Given the description of an element on the screen output the (x, y) to click on. 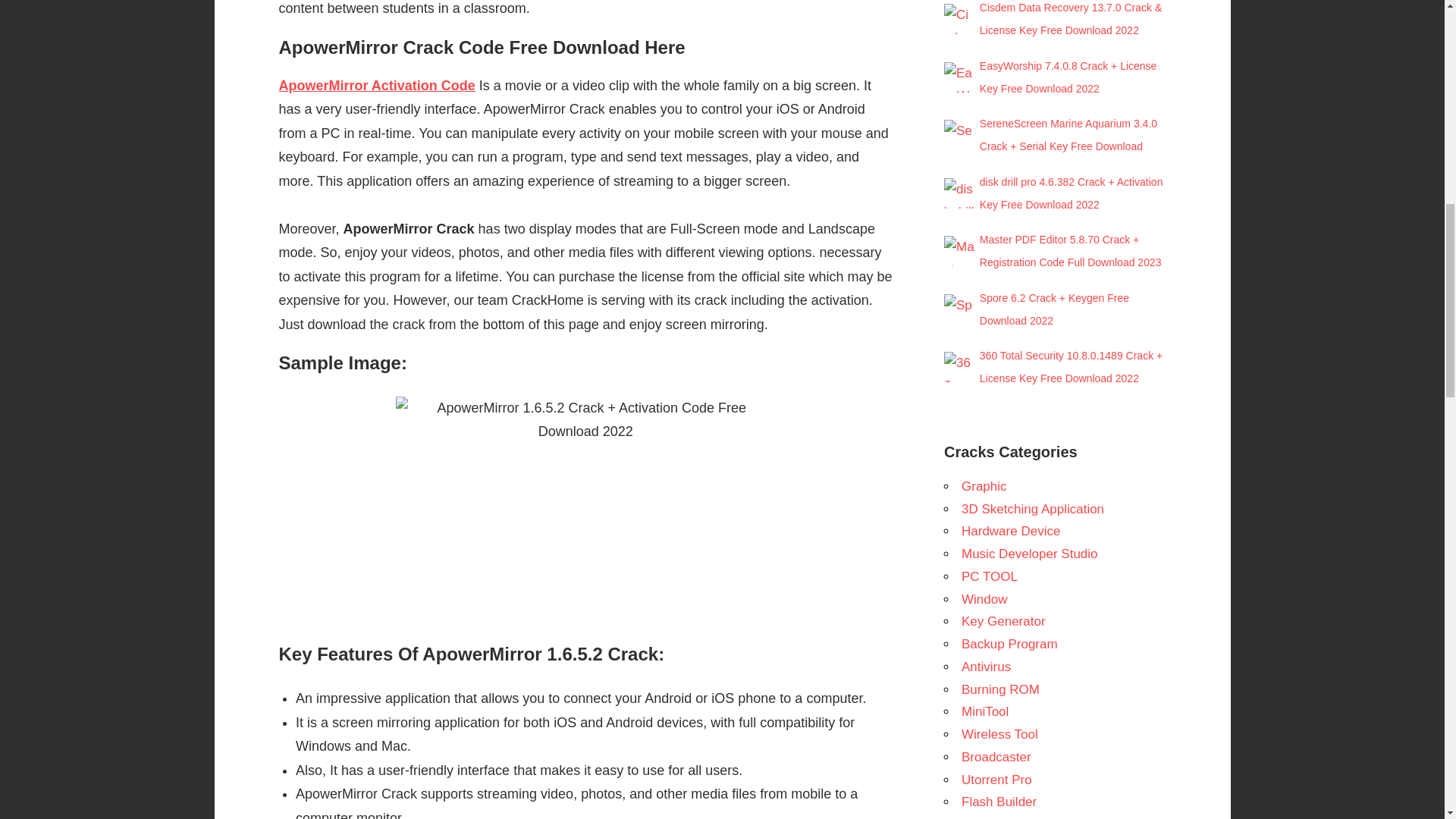
ApowerMirror Activation Code (377, 85)
